Given the description of an element on the screen output the (x, y) to click on. 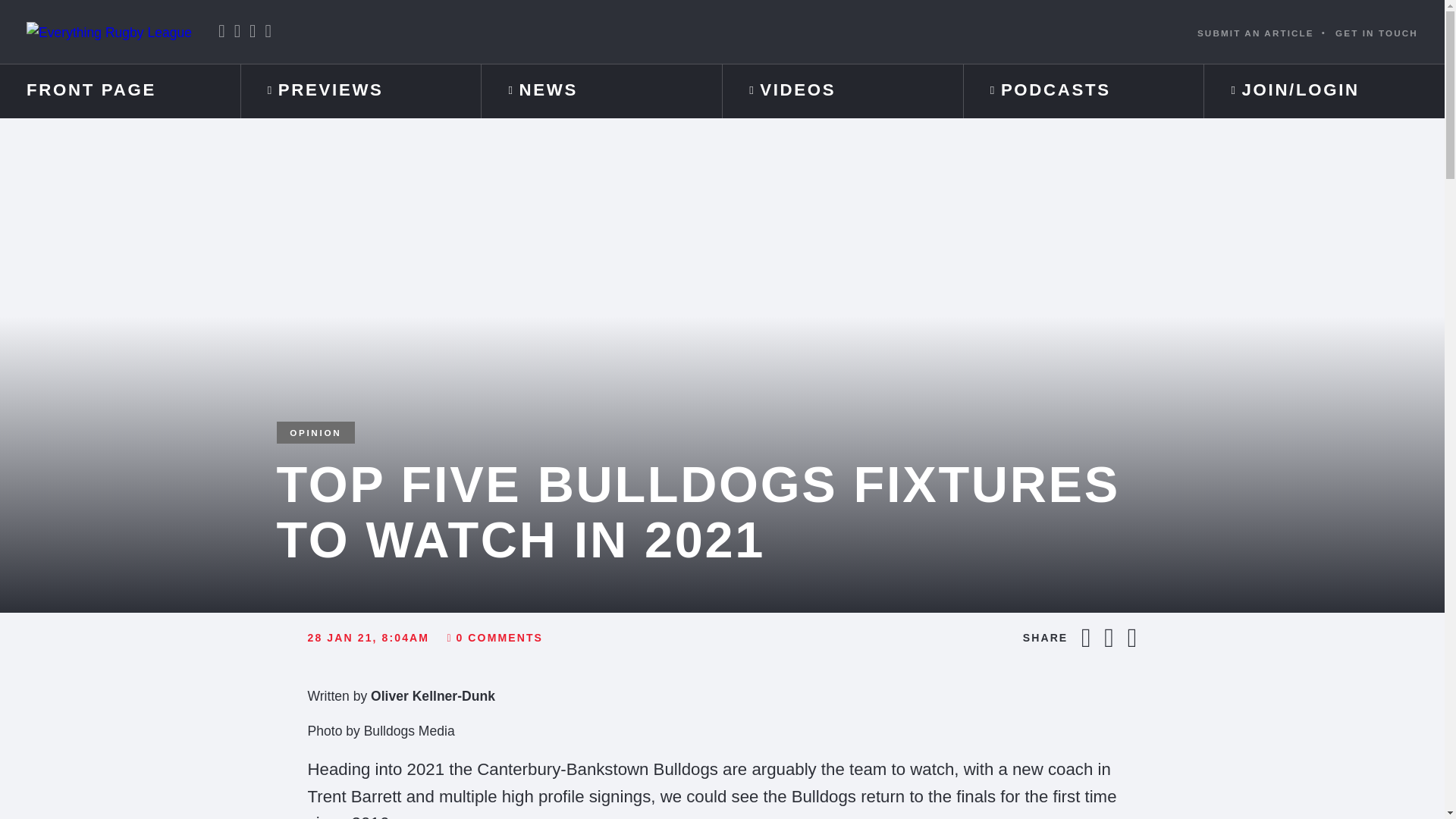
VIDEOS (842, 90)
PODCASTS (1083, 90)
0 COMMENTS (494, 637)
NEWS (601, 90)
OPINION (315, 432)
SUBMIT AN ARTICLE (1255, 32)
FRONT PAGE (120, 90)
PREVIEWS (361, 90)
GET IN TOUCH (1376, 32)
